Given the description of an element on the screen output the (x, y) to click on. 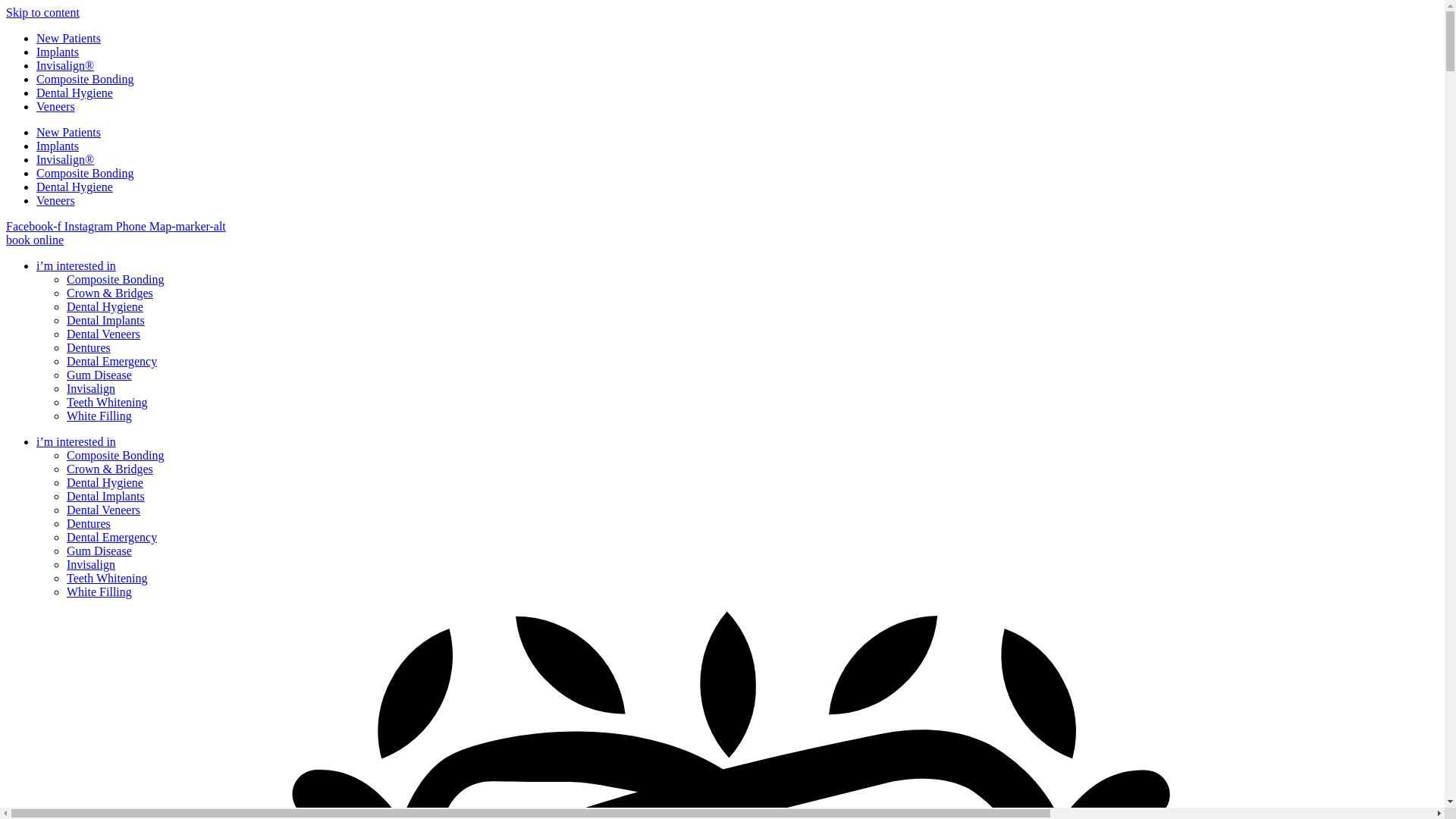
Dental Hygiene (74, 186)
Facebook-f (34, 226)
Skip to content (42, 11)
New Patients (68, 38)
Composite Bonding (114, 454)
Implants (57, 145)
Dental Hygiene (104, 481)
Dental Implants (105, 319)
Dental Emergency (111, 536)
Dentures (88, 522)
Phone (132, 226)
Composite Bonding (84, 78)
Composite Bonding (114, 278)
Dental Implants (105, 495)
Teeth Whitening (107, 401)
